Given the description of an element on the screen output the (x, y) to click on. 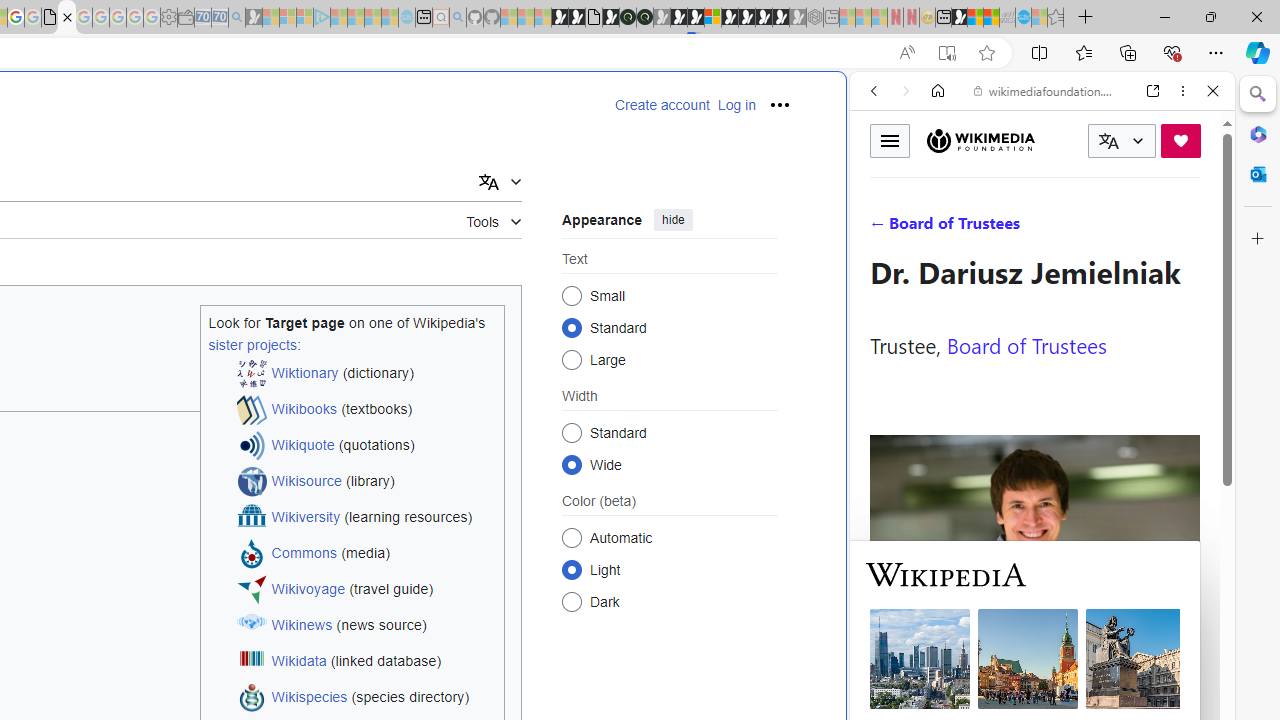
Close Outlook pane (1258, 174)
Play Free Online Games | Games from Microsoft Start (746, 17)
Wikibooks (304, 409)
Global web icon (888, 669)
Search Filter, IMAGES (939, 228)
Navy Quest (1007, 17)
Search Filter, WEB (882, 228)
Create account (662, 105)
Wikivoyage (travel guide) (366, 590)
Preferences (1189, 228)
World - MSN (975, 17)
